Given the description of an element on the screen output the (x, y) to click on. 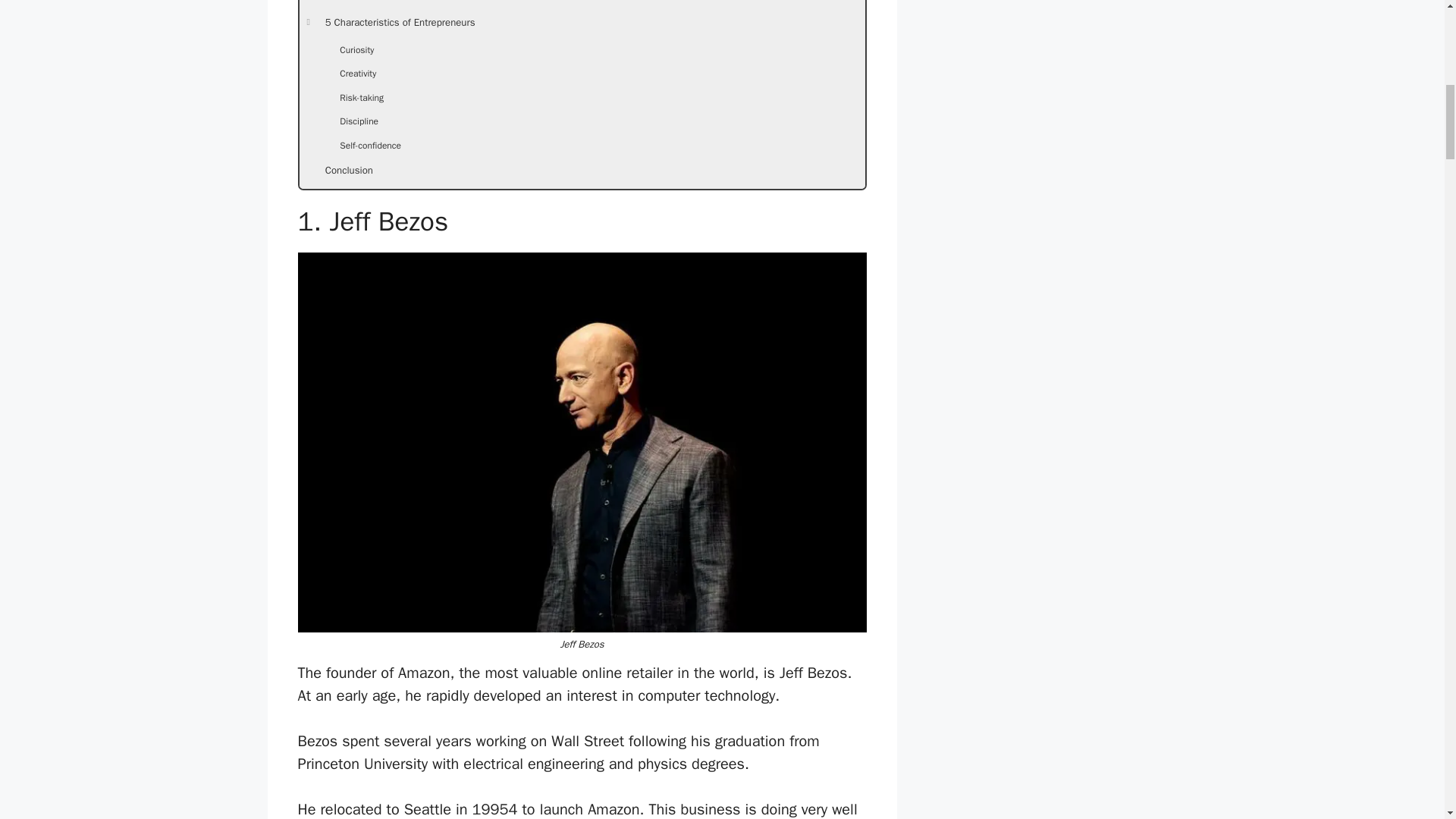
Risk-taking (581, 100)
Discipline (581, 124)
Scroll back to top (1406, 720)
Conclusion (581, 174)
Curiosity (581, 52)
5 Characteristics of Entrepreneurs (581, 26)
Creativity (581, 76)
Self-confidence (581, 148)
10. Thomas Edison (581, 6)
